Given the description of an element on the screen output the (x, y) to click on. 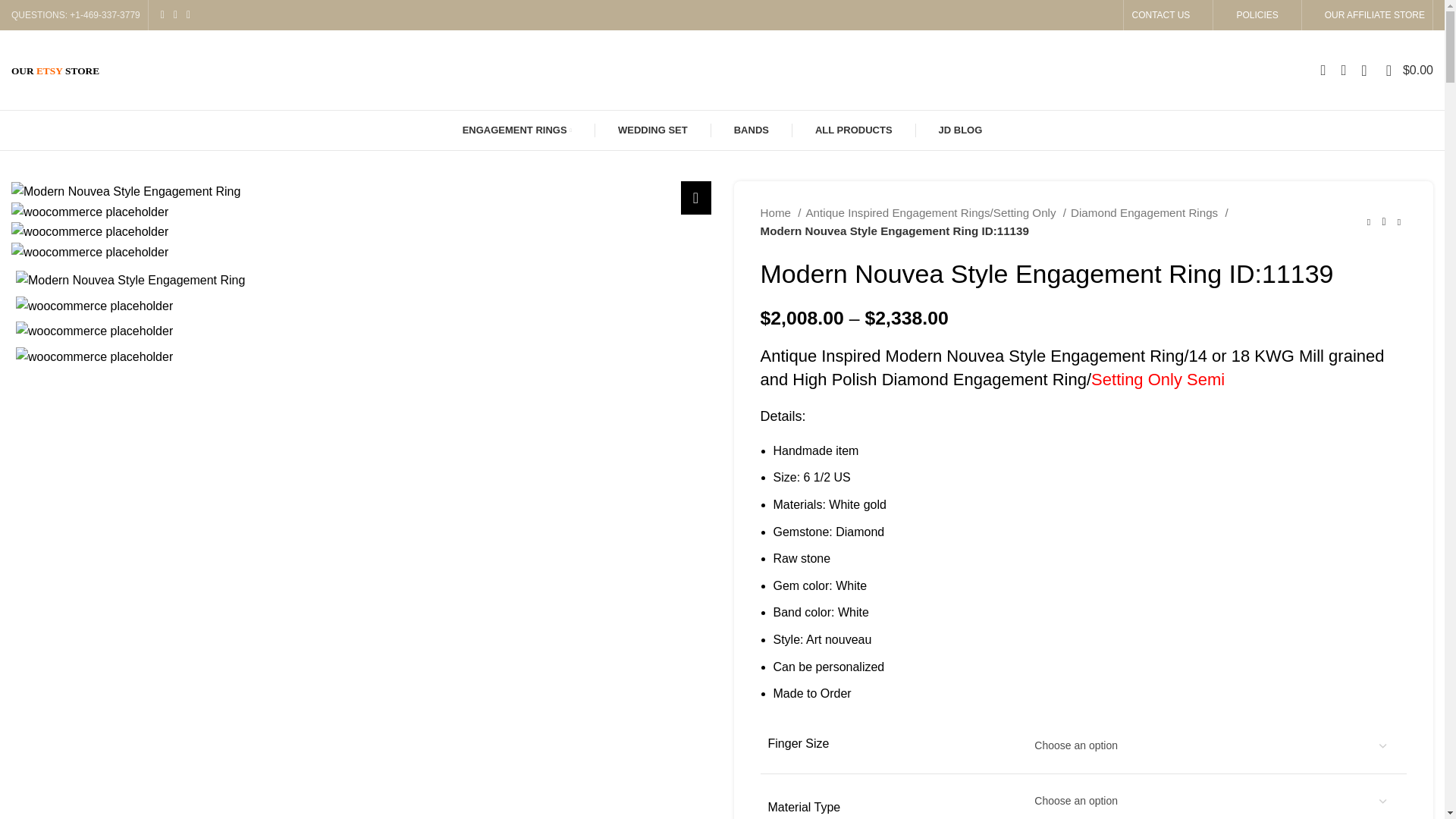
ALL PRODUCTS (853, 130)
Diamond Engagement Rings (1149, 212)
BANDS (751, 130)
Shopping cart (1409, 69)
Shop (853, 130)
OUR ETSY STORE (55, 69)
CONTACT US (1160, 15)
JD BLOG (960, 130)
POLICIES (1256, 15)
WEDDING SET (652, 130)
ENGAGEMENT RINGS (516, 130)
OUR AFFILIATE STORE (1373, 15)
Home (780, 212)
